Given the description of an element on the screen output the (x, y) to click on. 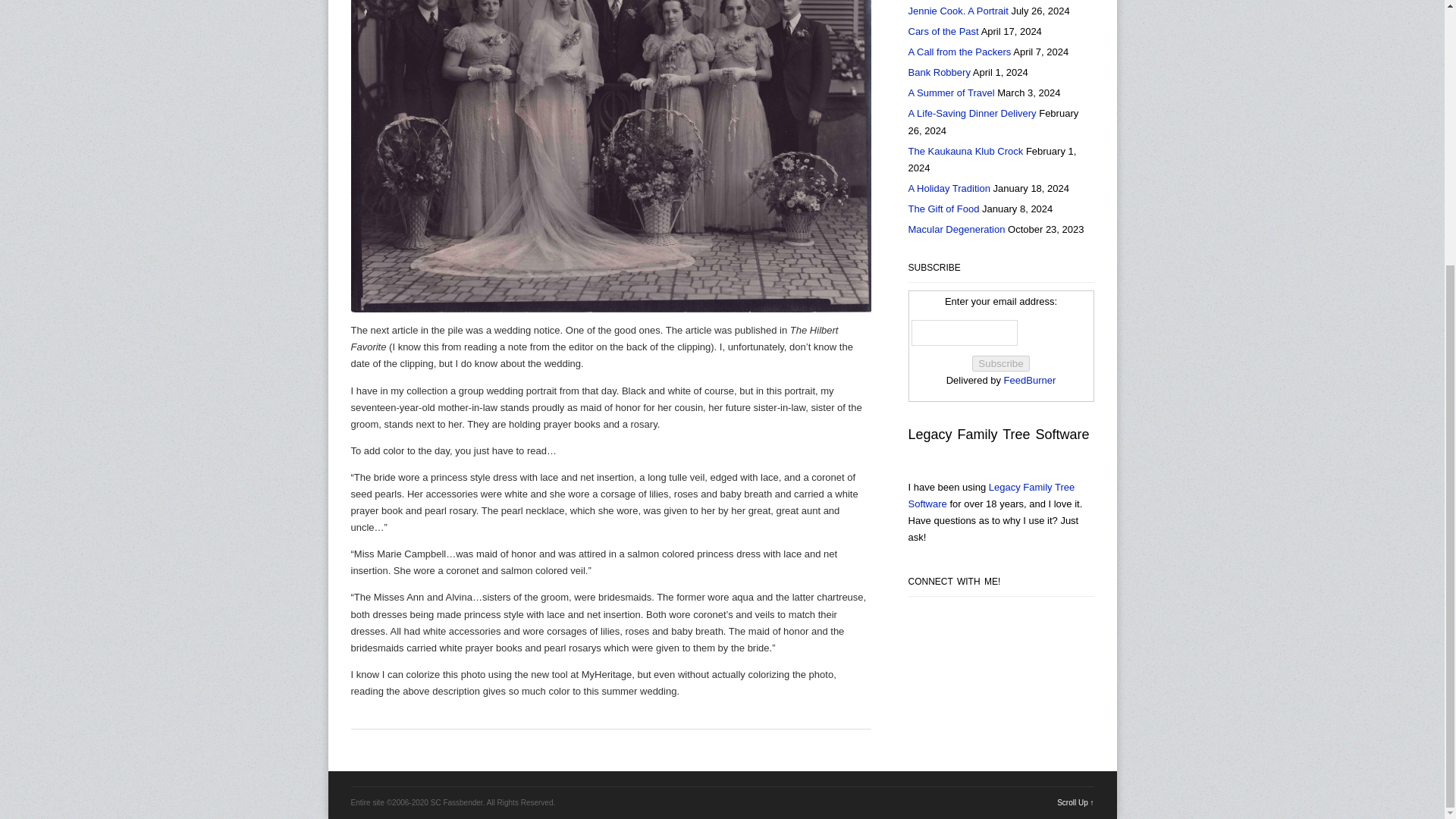
Subscribe (1000, 363)
A Life-Saving Dinner Delivery (972, 112)
Scroll Up (1075, 802)
A Call from the Packers (959, 51)
The Kaukauna Klub Crock (965, 151)
Bank Robbery (939, 71)
Cars of the Past (943, 30)
Jennie Cook. A Portrait (958, 10)
A Summer of Travel (951, 92)
